Given the description of an element on the screen output the (x, y) to click on. 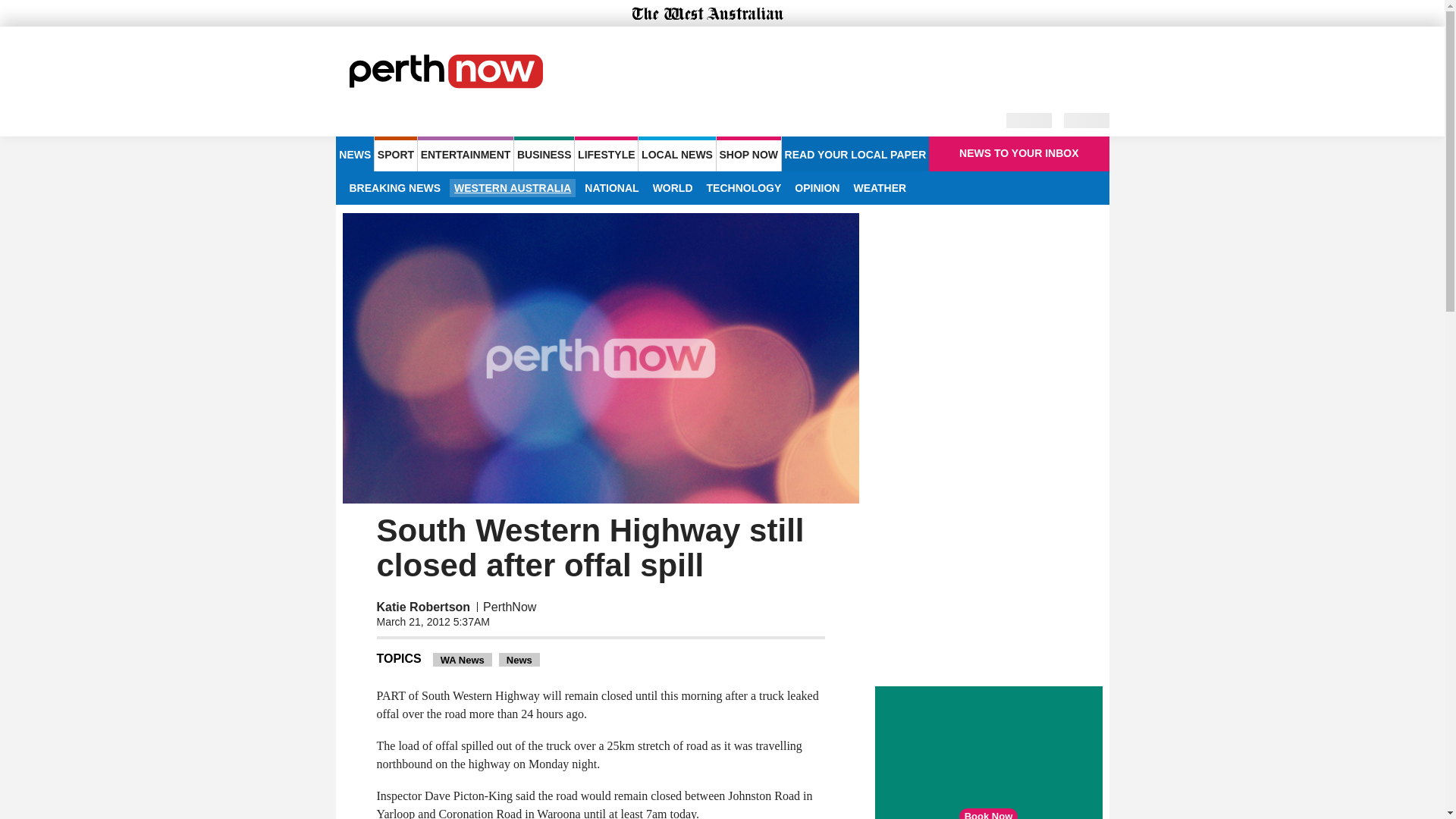
BUSINESS (543, 153)
NEWS (354, 153)
ENTERTAINMENT (465, 153)
SPORT (395, 153)
